Given the description of an element on the screen output the (x, y) to click on. 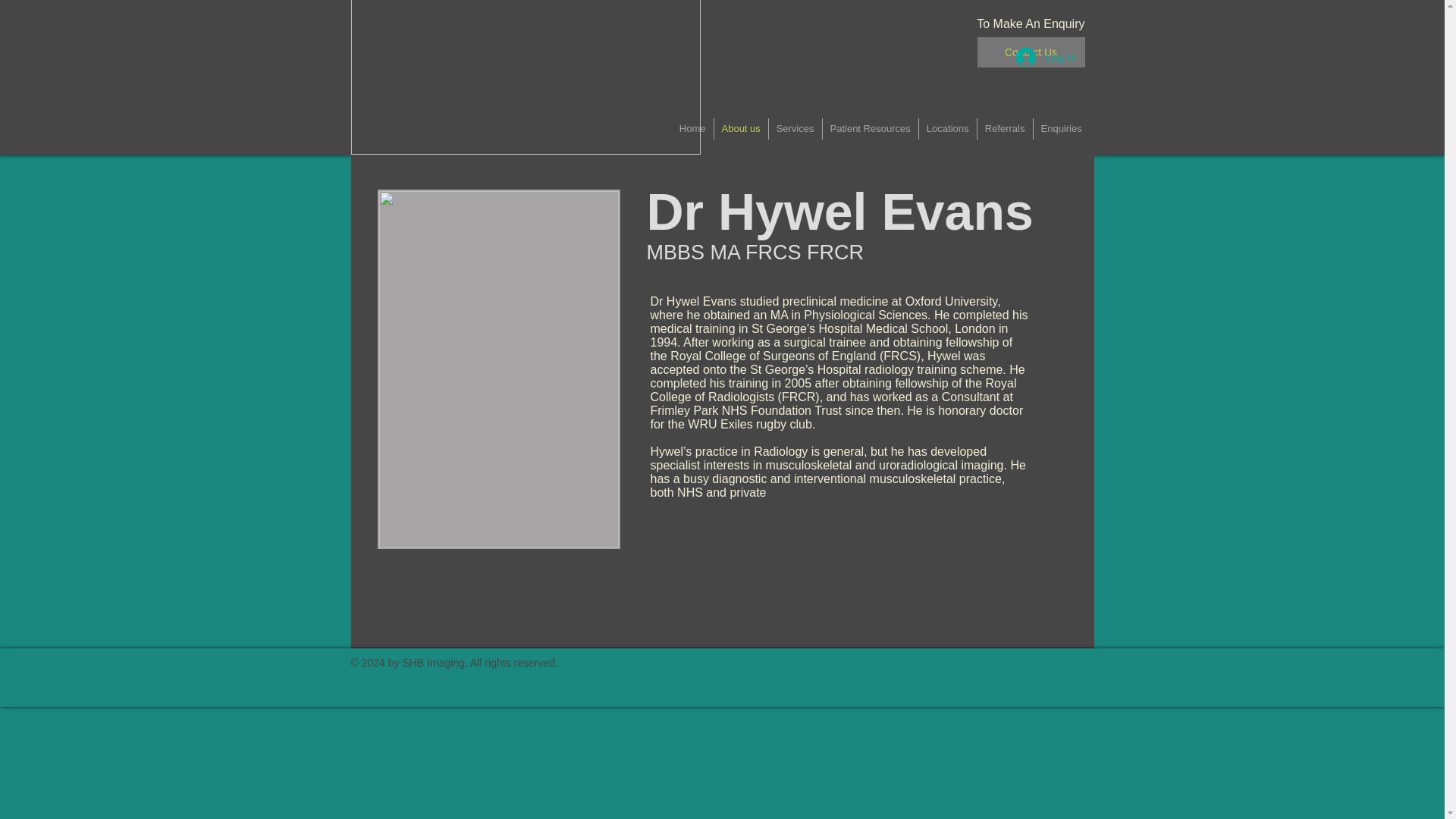
Log In (1046, 57)
ICON9.png (525, 77)
Referrals (1004, 128)
Twitter Follow (726, 672)
Services (795, 128)
Enquiries (1060, 128)
Locations (947, 128)
Patient Resources (869, 128)
Contact Us (1030, 51)
About us (741, 128)
Home (692, 128)
